Given the description of an element on the screen output the (x, y) to click on. 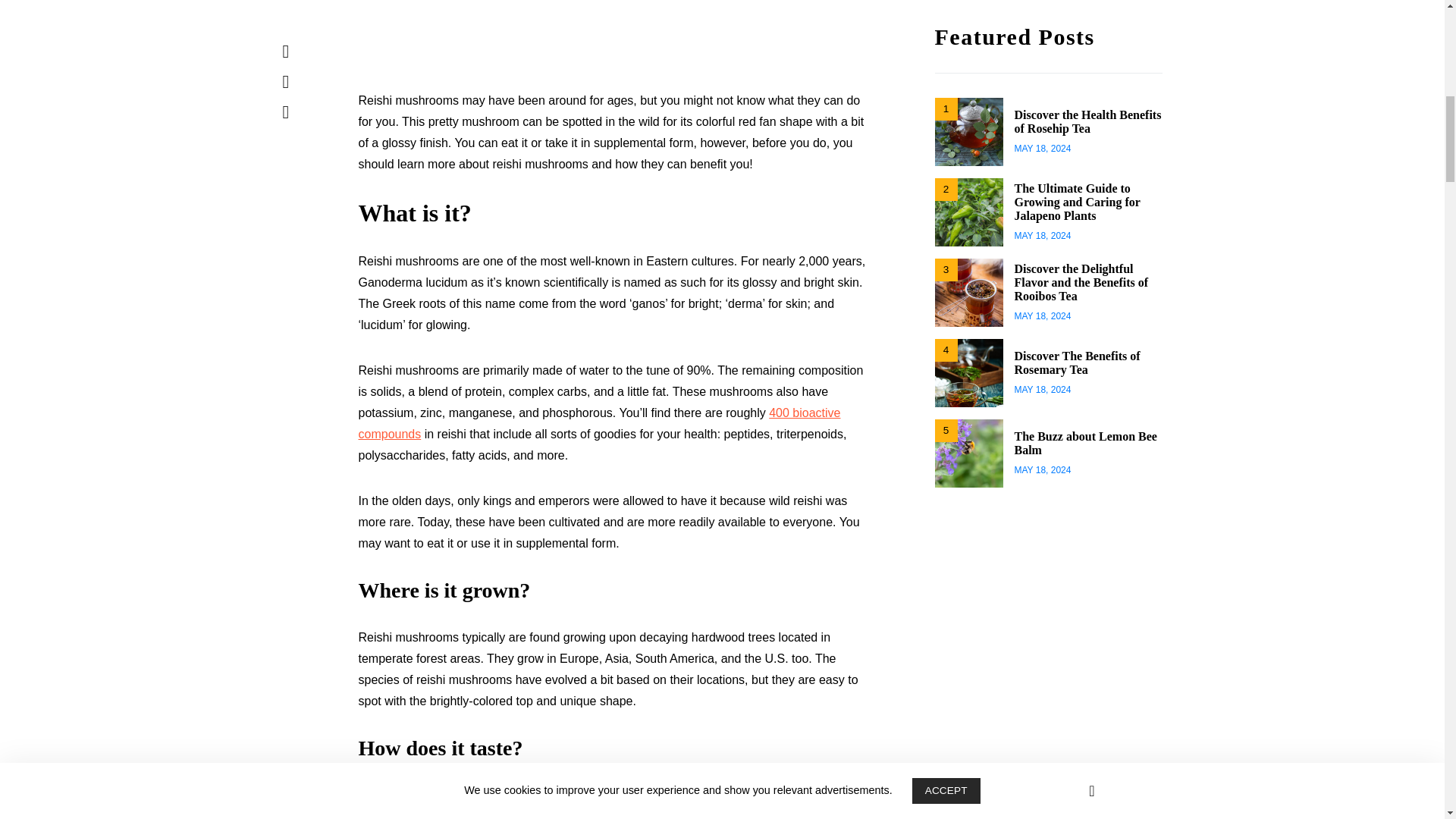
400 bioactive compounds (599, 423)
Advertisement (615, 45)
